Given the description of an element on the screen output the (x, y) to click on. 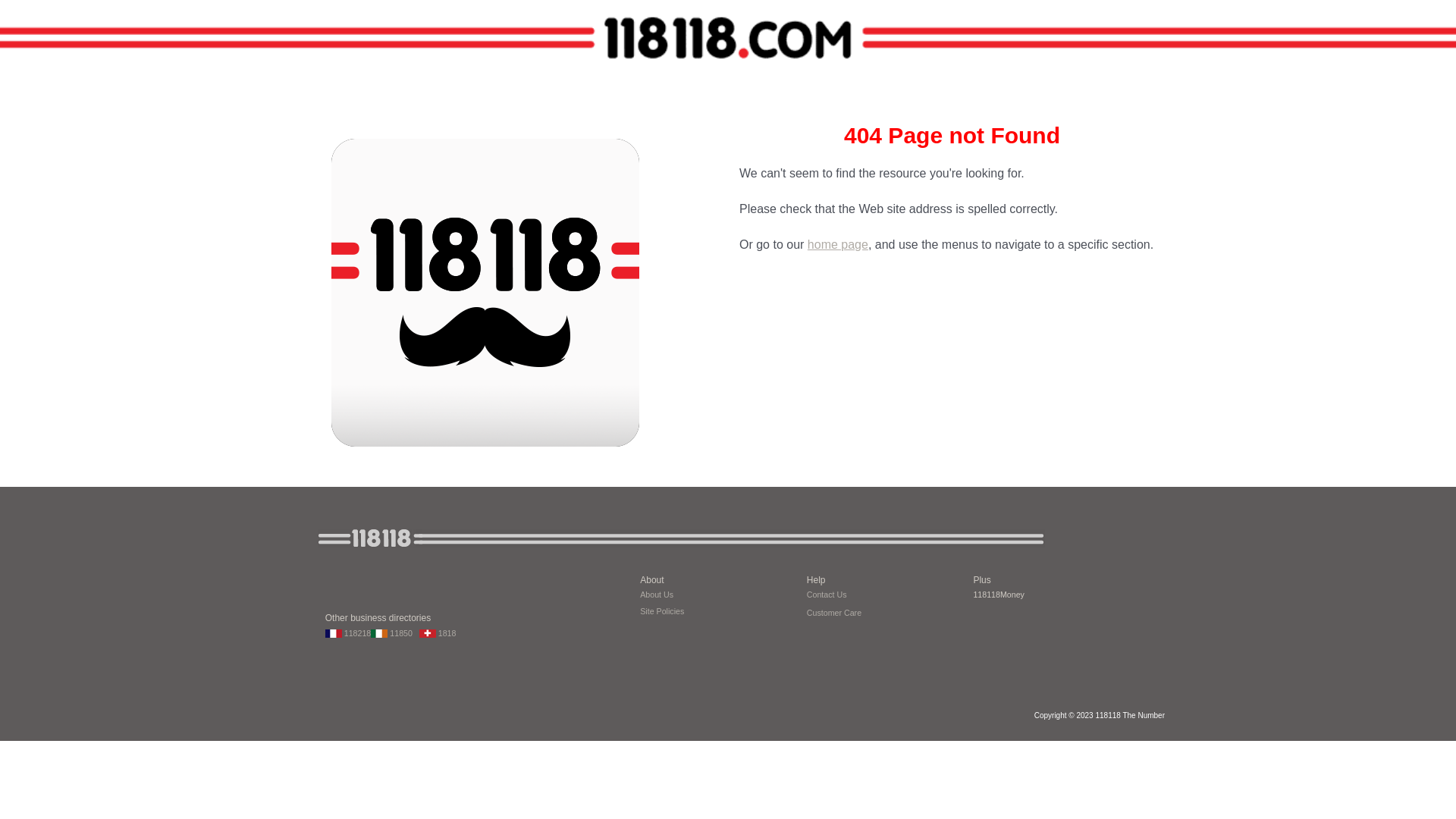
home page Element type: text (837, 244)
118218 Element type: text (348, 632)
1818 Element type: text (437, 632)
 11850   Element type: text (394, 632)
Contact Us Element type: text (826, 592)
118118Money Element type: text (998, 594)
Customer Care Element type: text (833, 610)
Site Policies Element type: text (662, 610)
About Us Element type: text (656, 594)
